Given the description of an element on the screen output the (x, y) to click on. 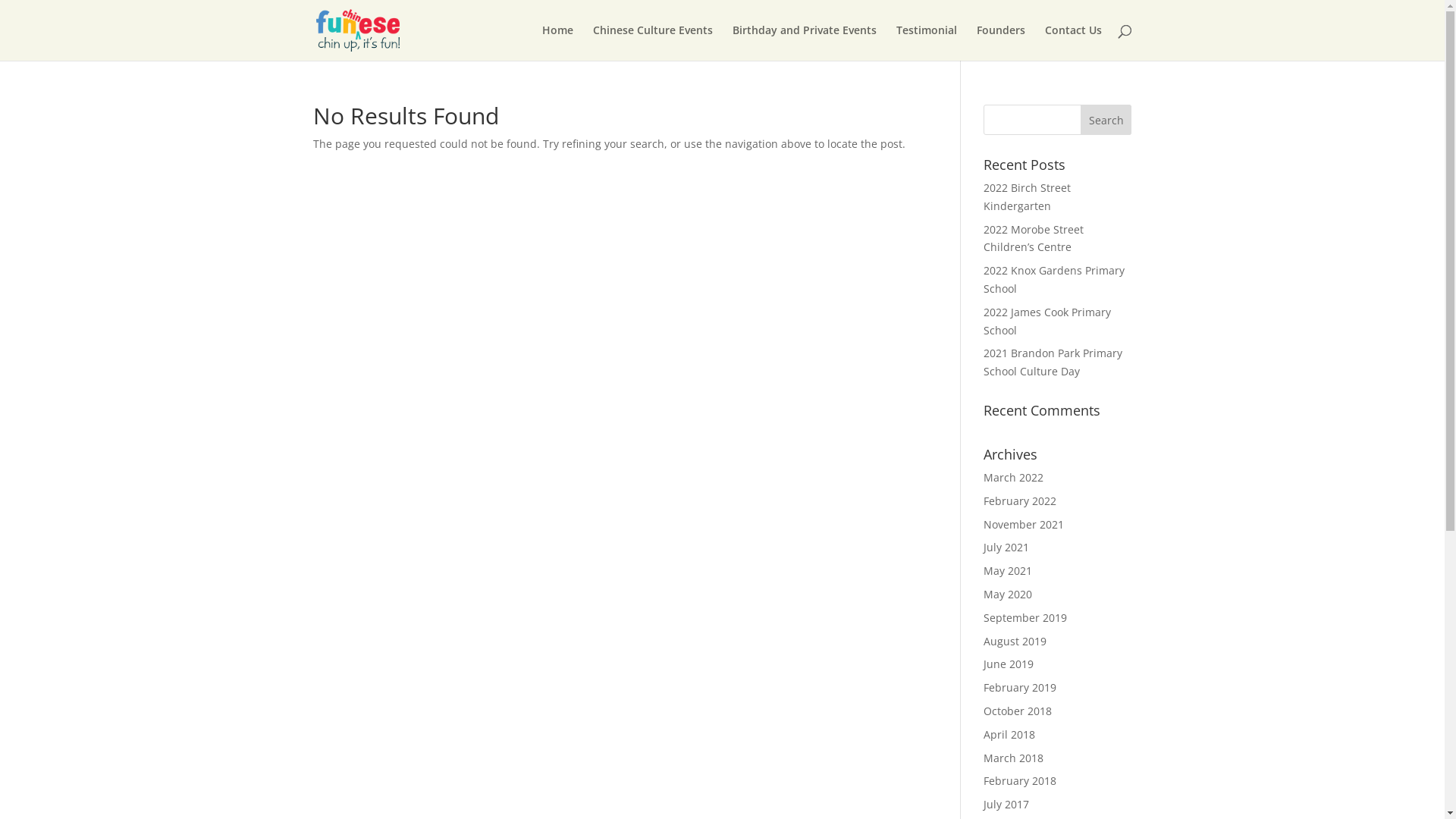
2022 Knox Gardens Primary School Element type: text (1053, 279)
2022 Birch Street Kindergarten Element type: text (1026, 196)
July 2021 Element type: text (1006, 546)
Chinese Culture Events Element type: text (652, 42)
Home Element type: text (556, 42)
September 2019 Element type: text (1024, 617)
June 2019 Element type: text (1008, 663)
April 2018 Element type: text (1009, 734)
July 2017 Element type: text (1006, 804)
October 2018 Element type: text (1017, 710)
Birthday and Private Events Element type: text (804, 42)
February 2019 Element type: text (1019, 687)
November 2021 Element type: text (1023, 524)
March 2022 Element type: text (1013, 477)
February 2018 Element type: text (1019, 780)
Testimonial Element type: text (926, 42)
May 2021 Element type: text (1007, 570)
August 2019 Element type: text (1014, 640)
Search Element type: text (1106, 119)
2022 James Cook Primary School Element type: text (1046, 320)
February 2022 Element type: text (1019, 500)
May 2020 Element type: text (1007, 593)
2021 Brandon Park Primary School Culture Day Element type: text (1052, 361)
Contact Us Element type: text (1072, 42)
March 2018 Element type: text (1013, 757)
Founders Element type: text (1000, 42)
